Given the description of an element on the screen output the (x, y) to click on. 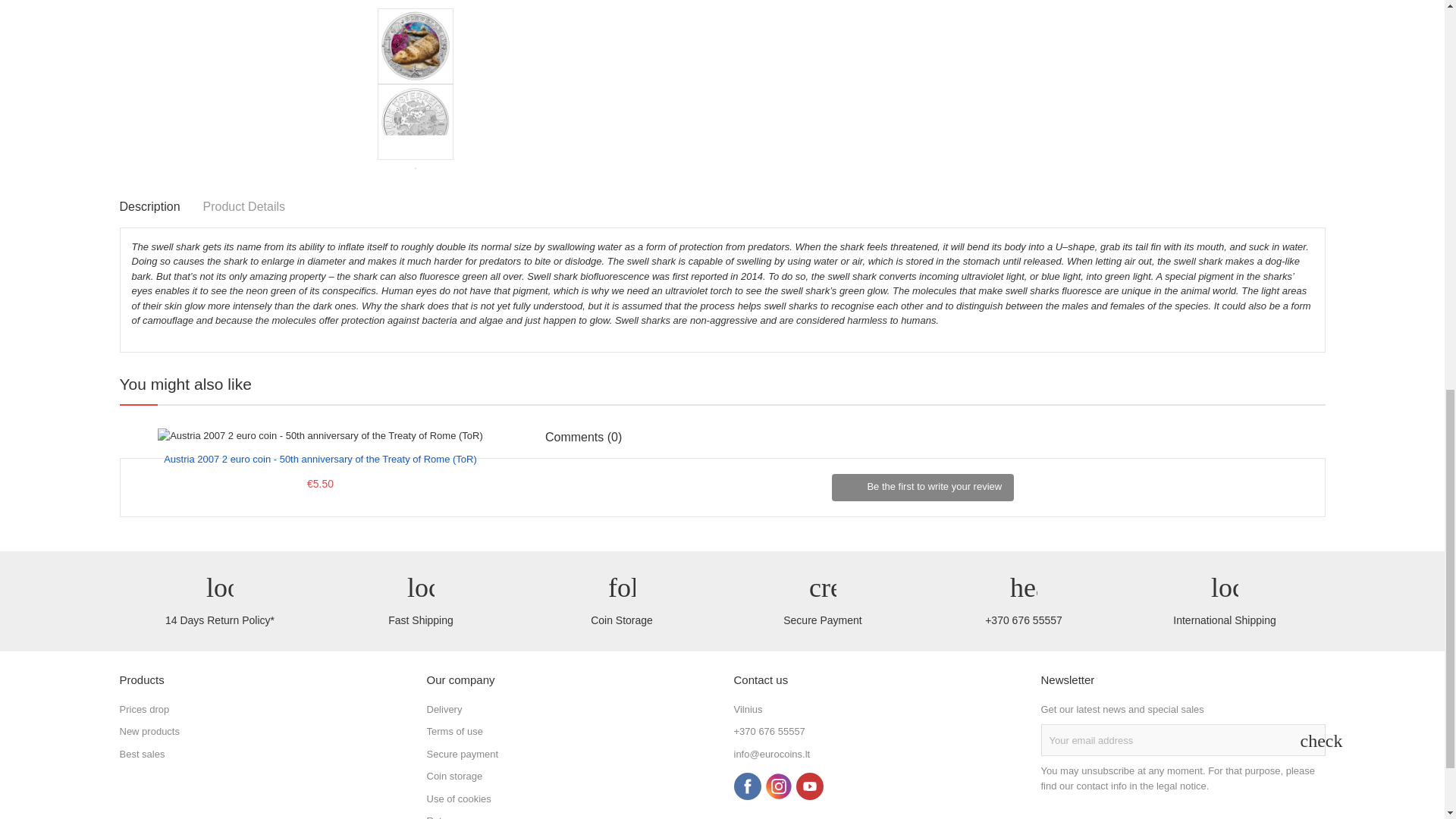
Our special products (144, 708)
Our secure payment method (461, 754)
Terms of use (453, 731)
Our best sales (142, 754)
Our terms and conditions of delivery (443, 708)
Our new products (149, 731)
